Given the description of an element on the screen output the (x, y) to click on. 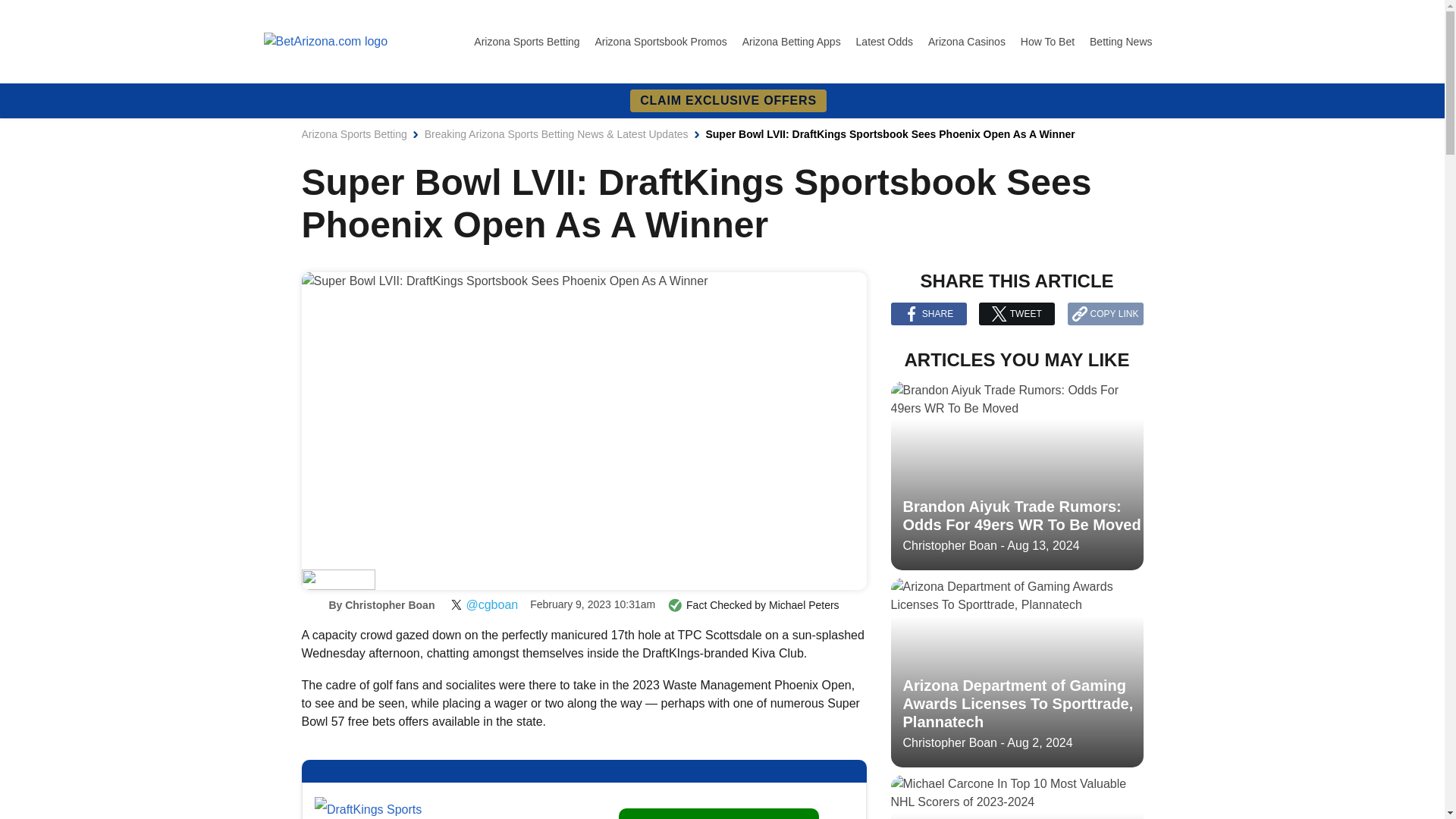
BetArizona.com logo (325, 41)
DraftKings Sports (368, 807)
Arizona Betting Apps (793, 41)
Arizona Sports Betting (528, 41)
Arizona Sports Betting (354, 133)
Arizona Sportsbook Promos (661, 41)
Brandon Aiyuk Trade Rumors: Odds For 49ers WR To Be Moved (1015, 475)
Latest Odds (885, 41)
